Given the description of an element on the screen output the (x, y) to click on. 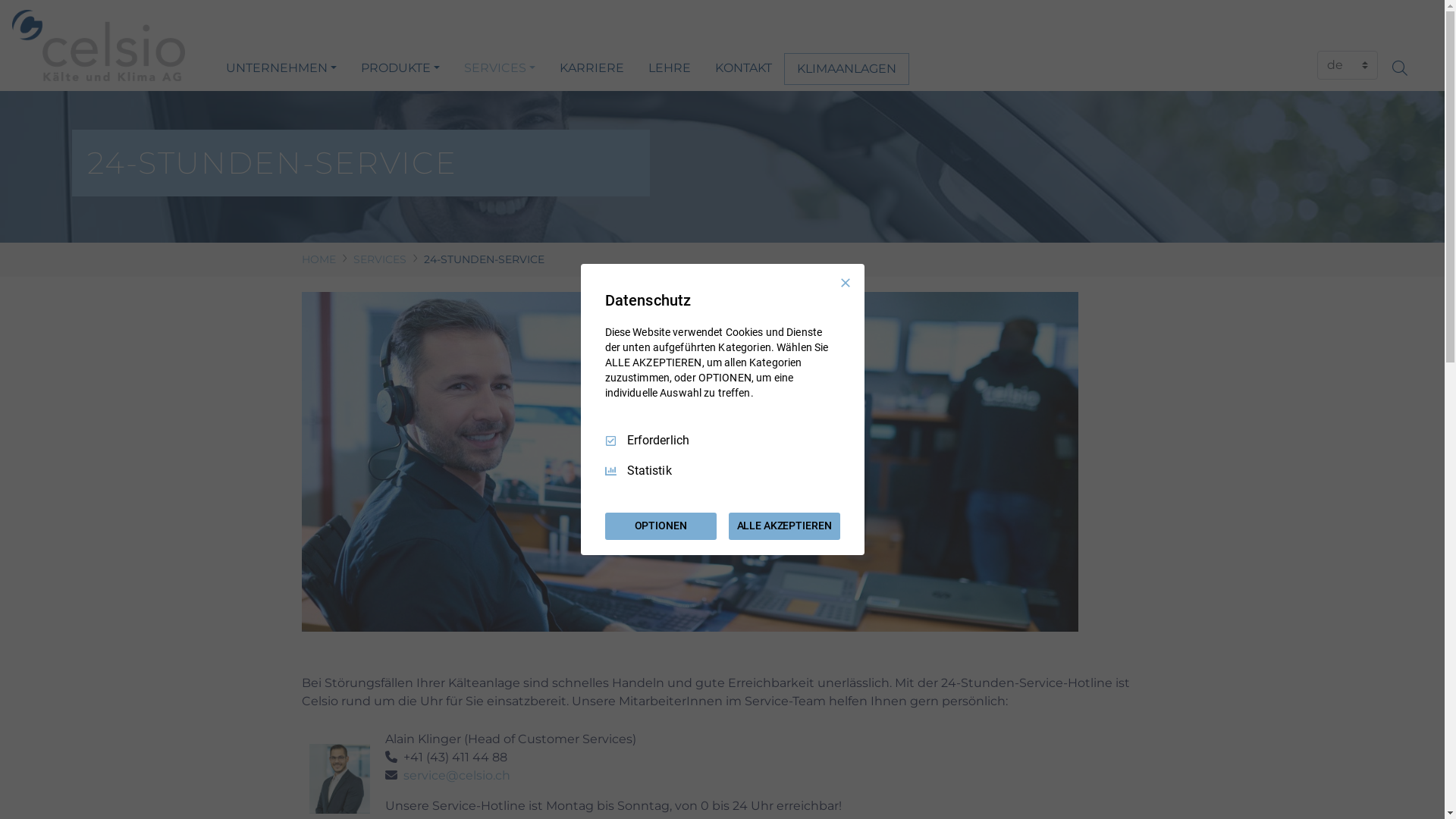
service@celsio.ch Element type: text (456, 775)
HOME Element type: text (318, 259)
KLIMAANLAGEN Element type: text (846, 68)
SERVICES Element type: text (379, 259)
OPTIONEN Element type: text (660, 525)
KONTAKT Element type: text (743, 68)
ALLE AKZEPTIEREN Element type: text (783, 525)
PRODUKTE Element type: text (399, 68)
LEHRE Element type: text (669, 68)
UNTERNEHMEN Element type: text (280, 68)
Search Element type: text (1406, 68)
Direkt zum Inhalt Element type: text (0, 0)
KARRIERE Element type: text (591, 68)
SERVICES Element type: text (499, 68)
